Given the description of an element on the screen output the (x, y) to click on. 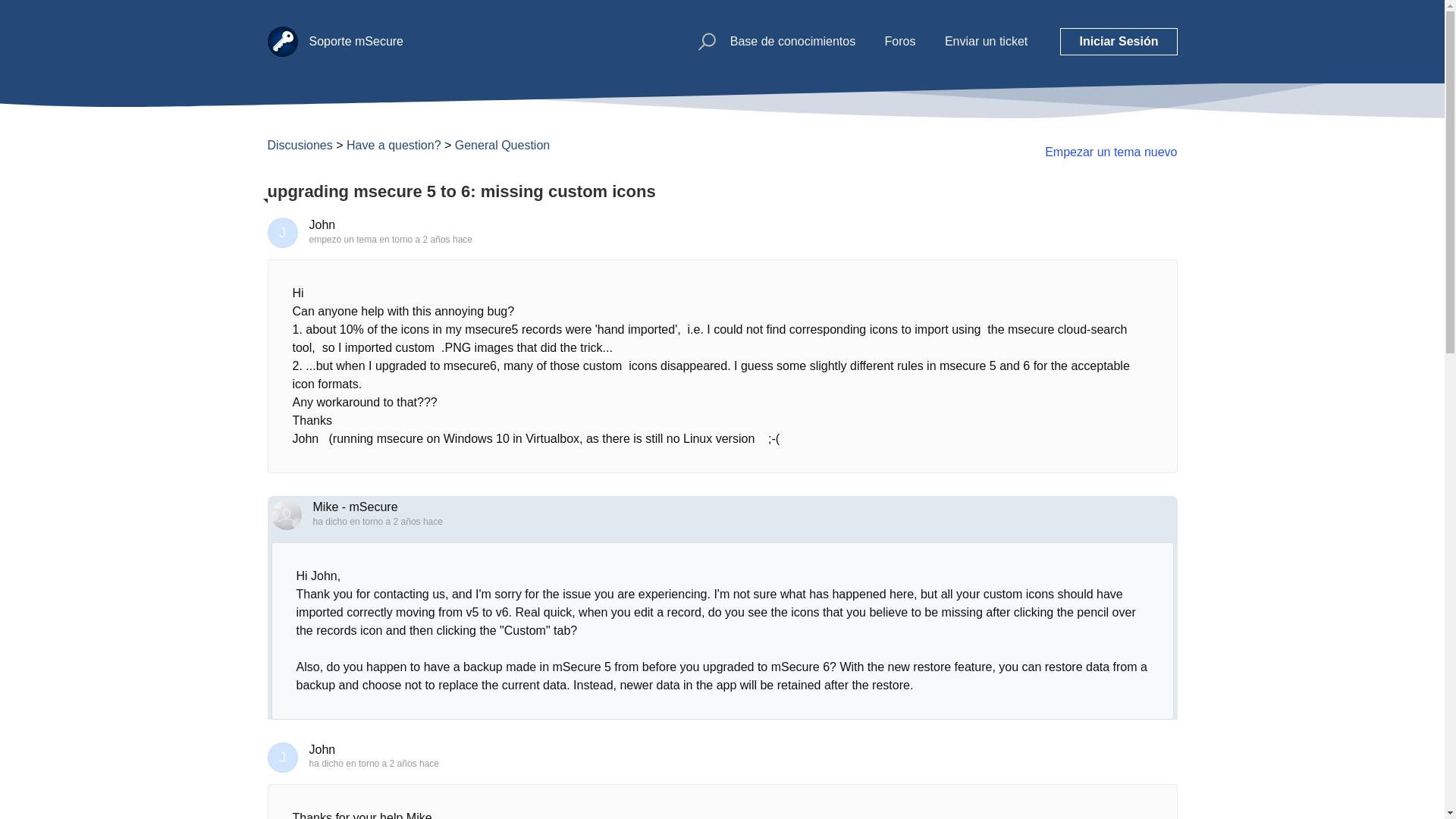
Foros (900, 41)
Mar, Jun 21, 2022 a  9:46 A. M. (395, 521)
Have a question? (393, 144)
Base de conocimientos (793, 41)
Empezar un tema nuevo (1110, 151)
Discusiones (298, 144)
Mar, Jun 21, 2022 a  5:52 A. M. (424, 239)
General Question (502, 144)
Enviar un ticket (985, 41)
Jue, Jun 23, 2022 a  5:39 A. M. (392, 763)
